Given the description of an element on the screen output the (x, y) to click on. 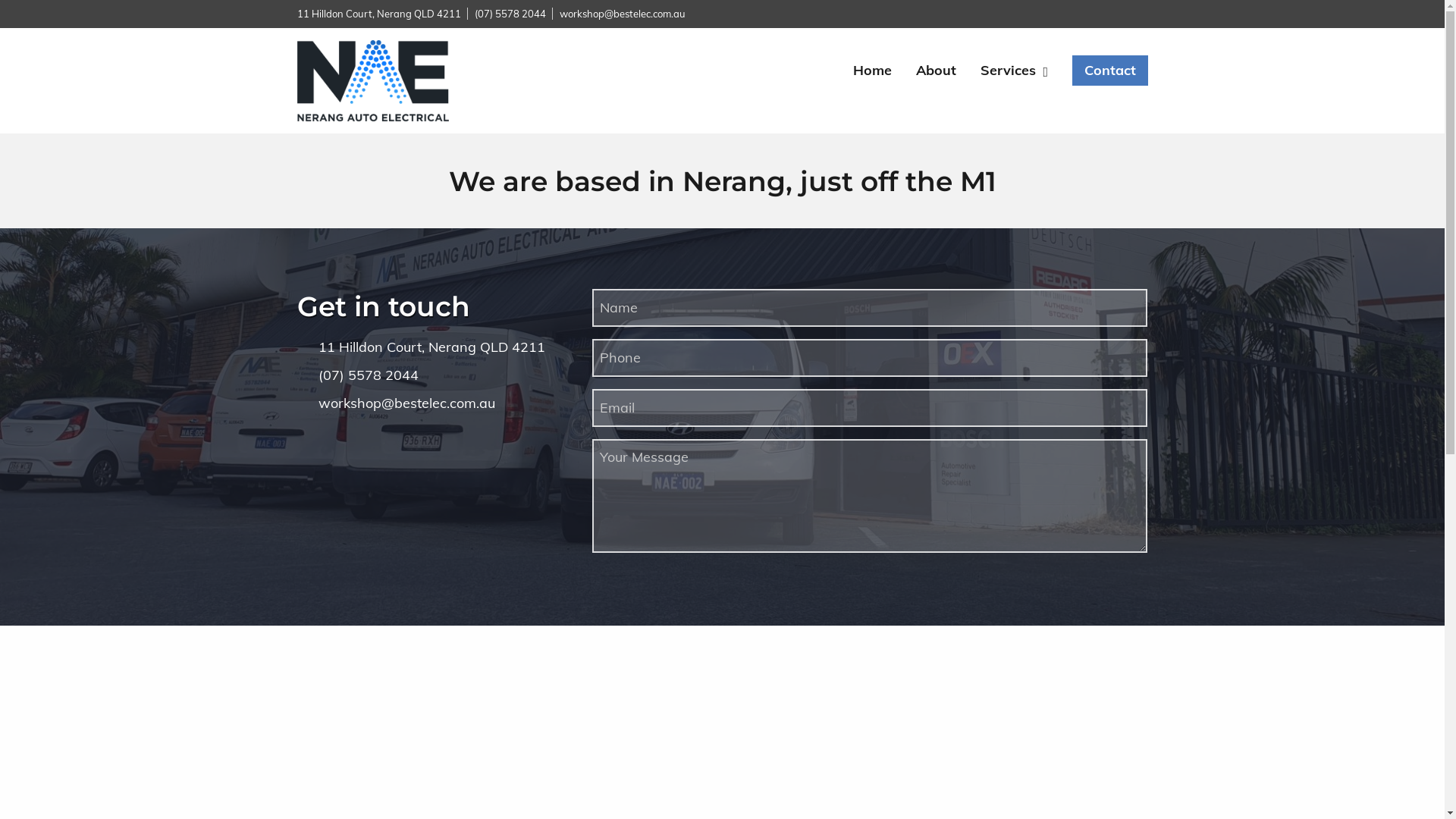
Submit Element type: text (53, 9)
Services Element type: text (1010, 70)
workshop@bestelec.com.au Element type: text (406, 402)
11 Hilldon Court, Nerang QLD 4211 Element type: text (379, 13)
Contact Element type: text (1110, 70)
11 Hilldon Court, Nerang QLD 4211 Element type: text (431, 346)
(07) 5578 2044 Element type: text (510, 13)
(07) 5578 2044 Element type: text (368, 374)
About Element type: text (935, 70)
workshop@bestelec.com.au Element type: text (622, 13)
Home Element type: text (871, 70)
